Given the description of an element on the screen output the (x, y) to click on. 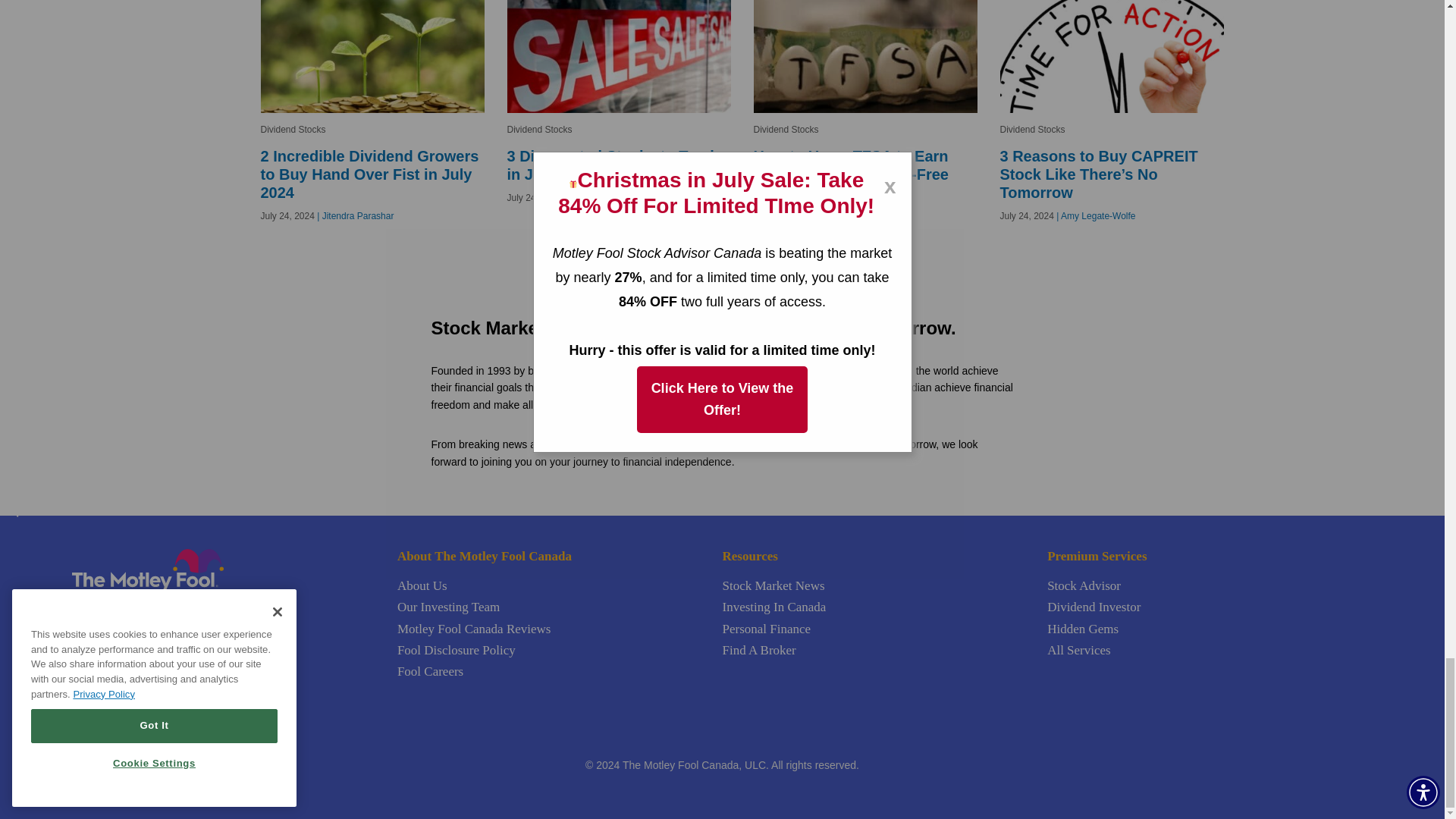
Like us on Facebook (99, 603)
Follow us on Twitter (80, 603)
Subscribe to our feed (118, 603)
